Given the description of an element on the screen output the (x, y) to click on. 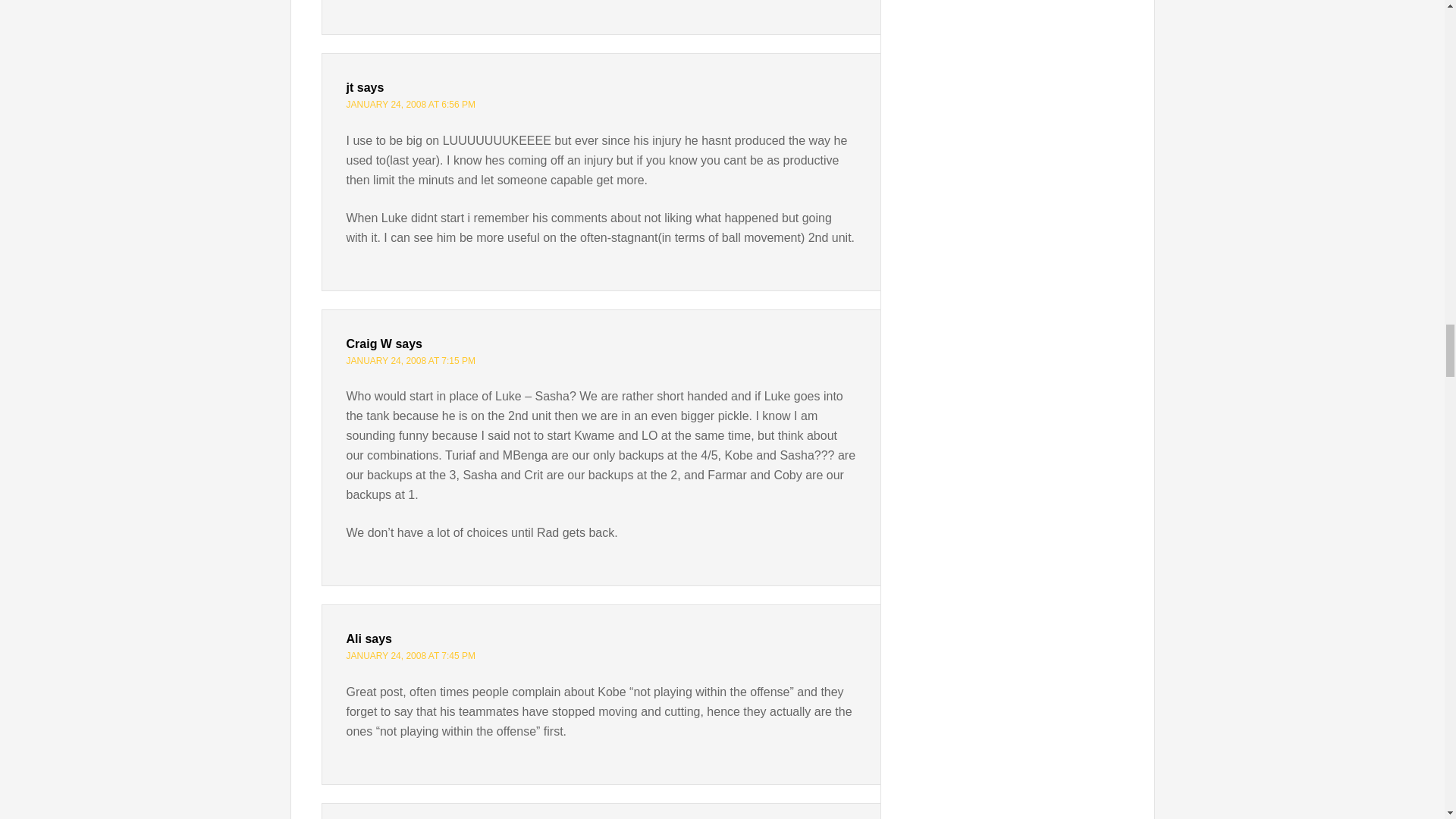
JANUARY 24, 2008 AT 6:56 PM (411, 104)
